Given the description of an element on the screen output the (x, y) to click on. 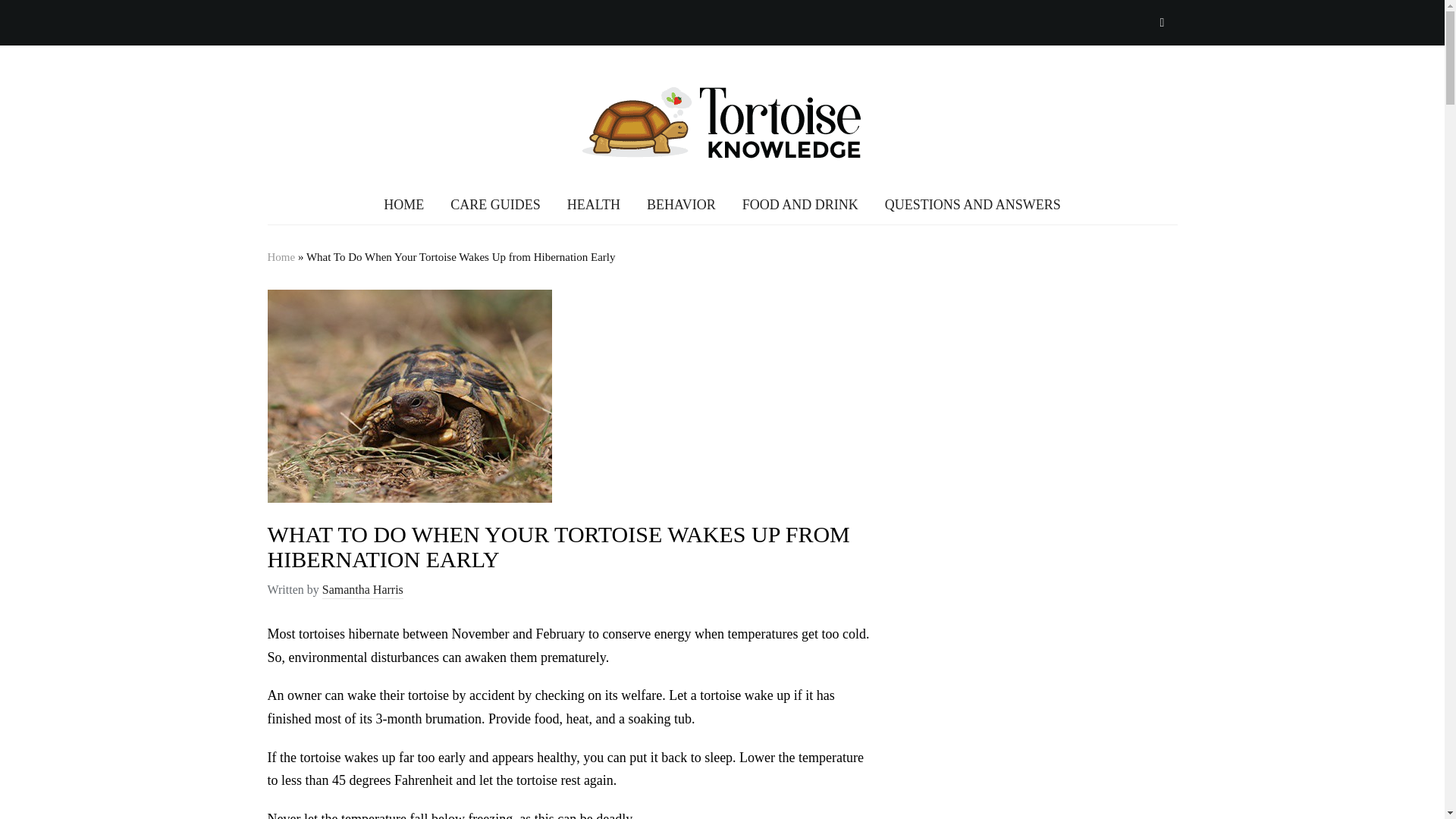
Home (280, 256)
BEHAVIOR (681, 205)
HOME (403, 205)
FOOD AND DRINK (800, 205)
CARE GUIDES (494, 205)
Search (1161, 22)
Posts by Samantha Harris (362, 590)
HEALTH (593, 205)
QUESTIONS AND ANSWERS (973, 205)
Samantha Harris (362, 590)
